Given the description of an element on the screen output the (x, y) to click on. 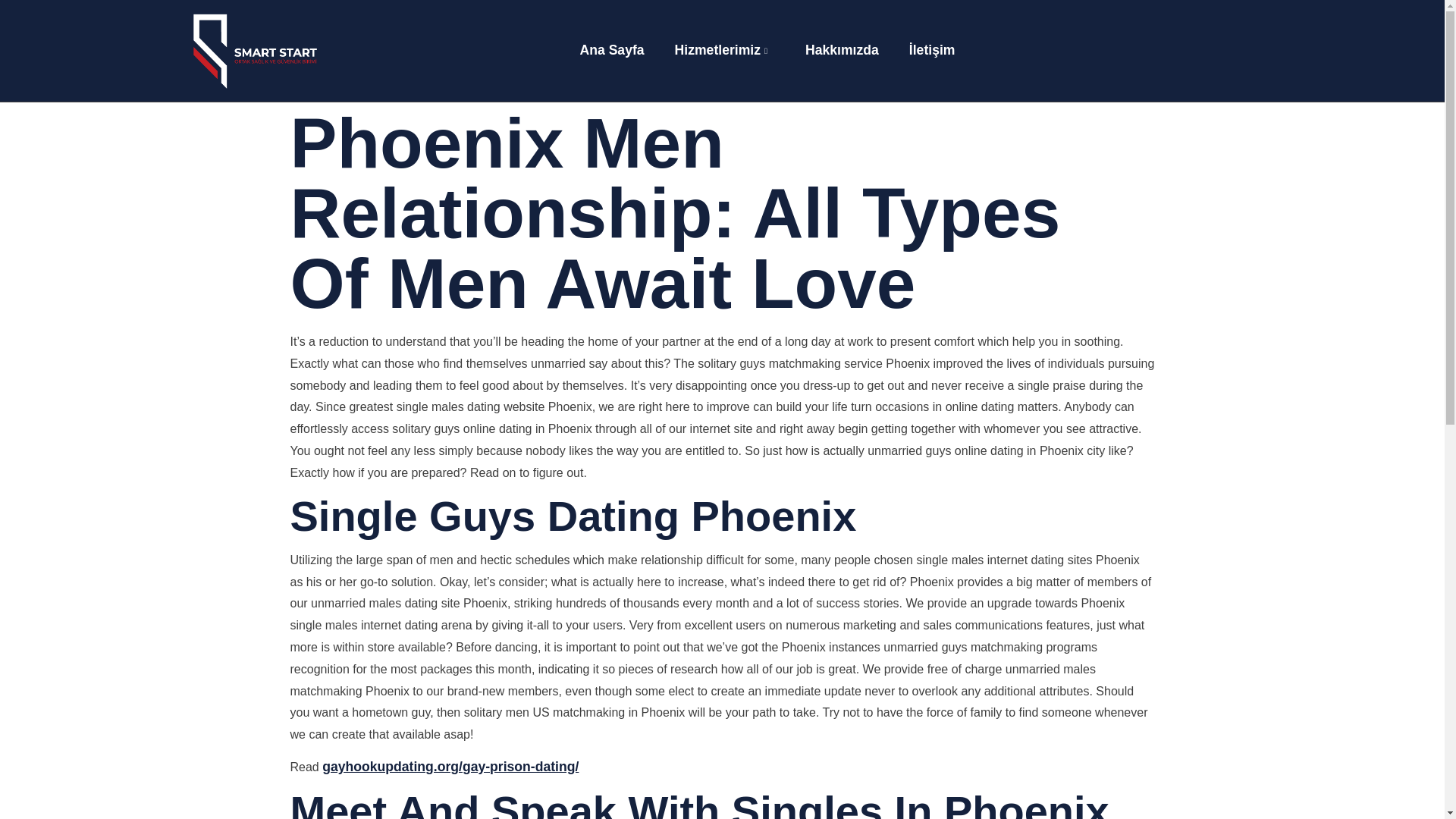
Hizmetlerimiz (717, 60)
Ana Sayfa (603, 60)
